Given the description of an element on the screen output the (x, y) to click on. 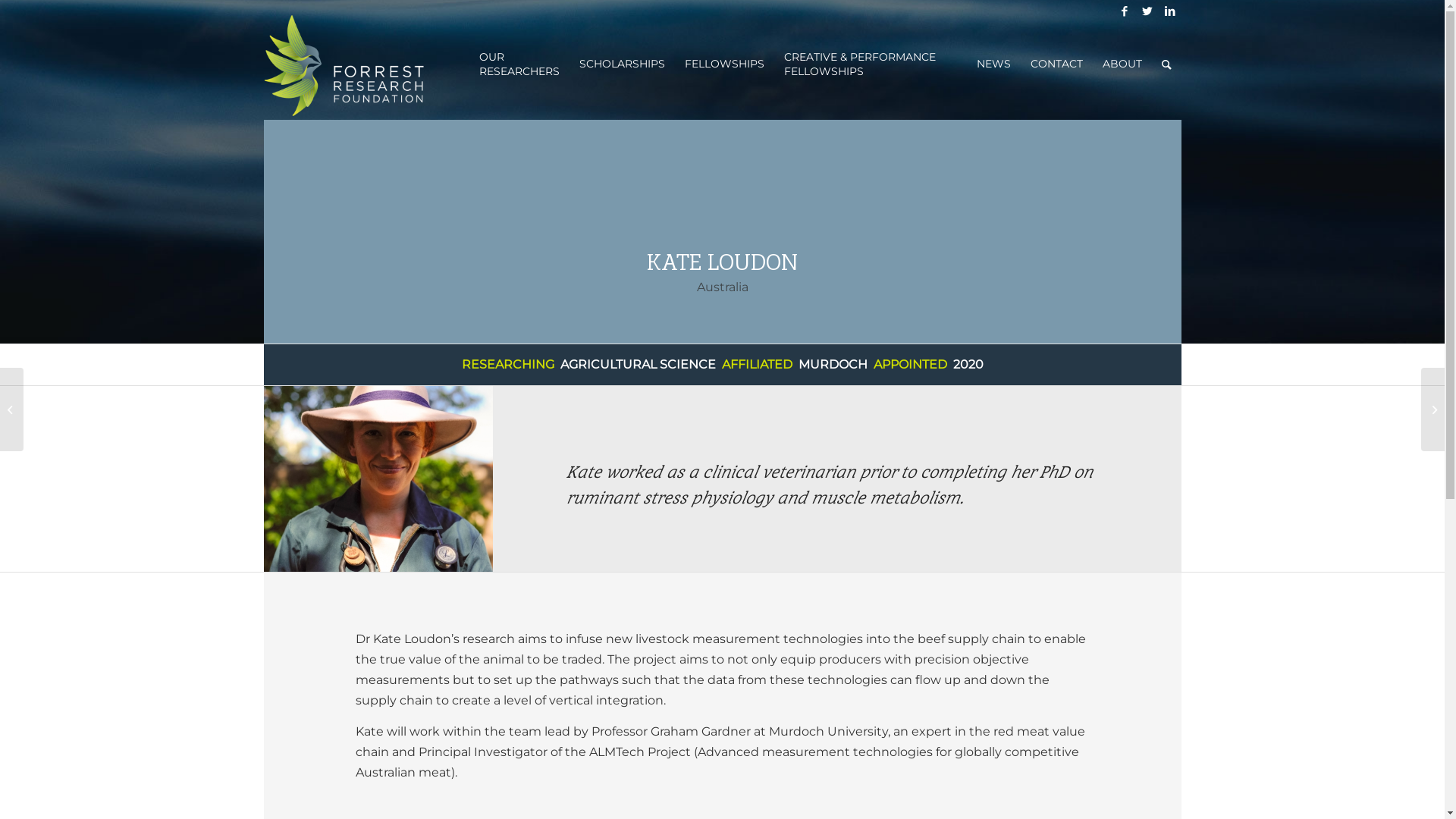
CONTACT Element type: text (1056, 64)
Facebook Element type: hover (1124, 11)
LinkedIn Element type: hover (1169, 11)
ABOUT Element type: text (1121, 64)
OUR RESEARCHERS Element type: text (519, 64)
Twitter Element type: hover (1146, 11)
Kate Loudon Element type: hover (378, 478)
SCHOLARSHIPS Element type: text (621, 64)
FELLOWSHIPS Element type: text (724, 64)
CREATIVE & PERFORMANCE FELLOWSHIPS Element type: text (870, 64)
NEWS Element type: text (992, 64)
